Given the description of an element on the screen output the (x, y) to click on. 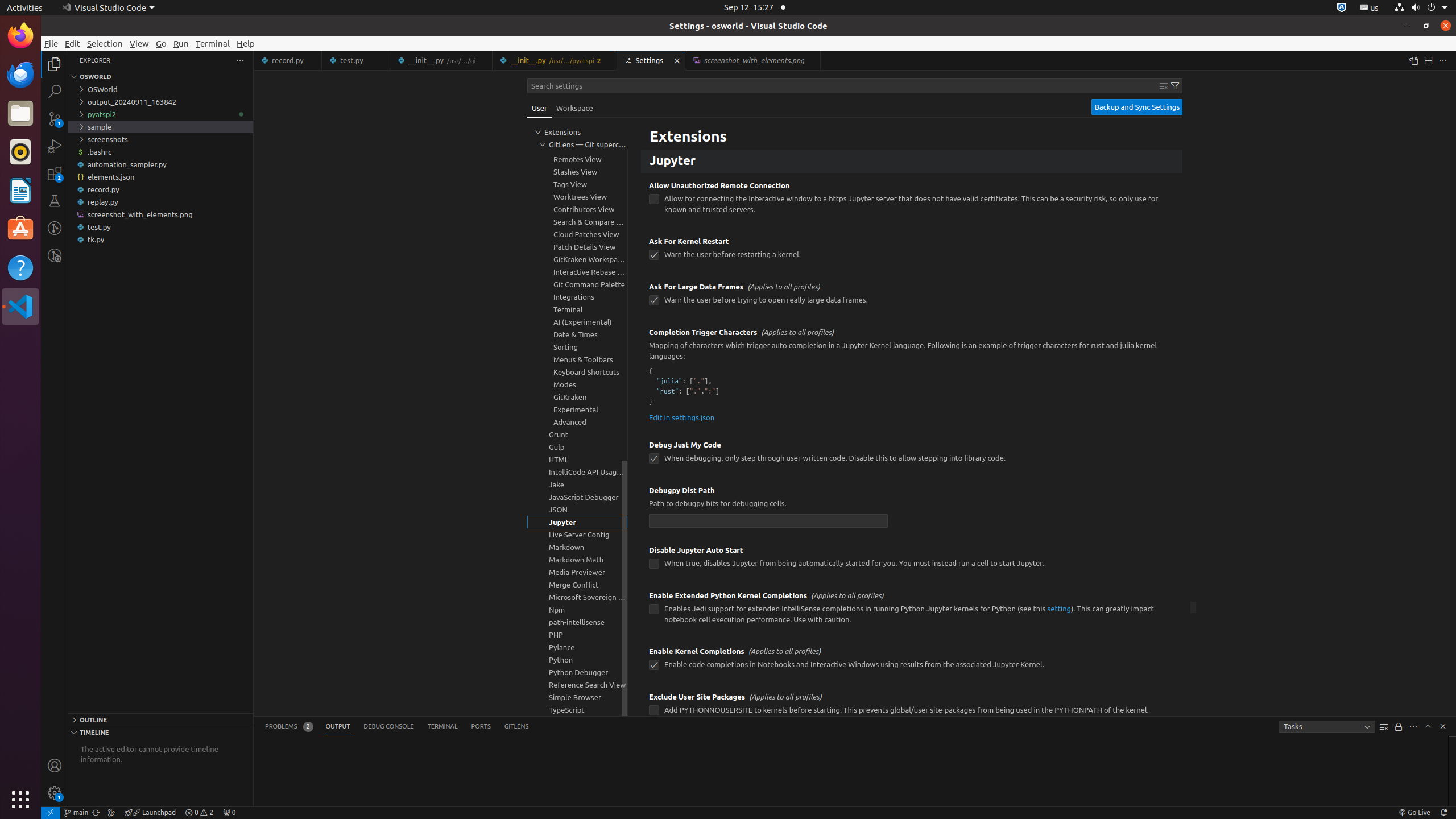
jupyter.askForLargeDataFrames Element type: check-box (653, 300)
tk.py Element type: tree-item (160, 239)
HTML, group Element type: tree-item (577, 459)
screenshot_with_elements.png, preview Element type: page-tab (753, 60)
More Actions... (Shift+F9) Element type: push-button (634, 695)
